Given the description of an element on the screen output the (x, y) to click on. 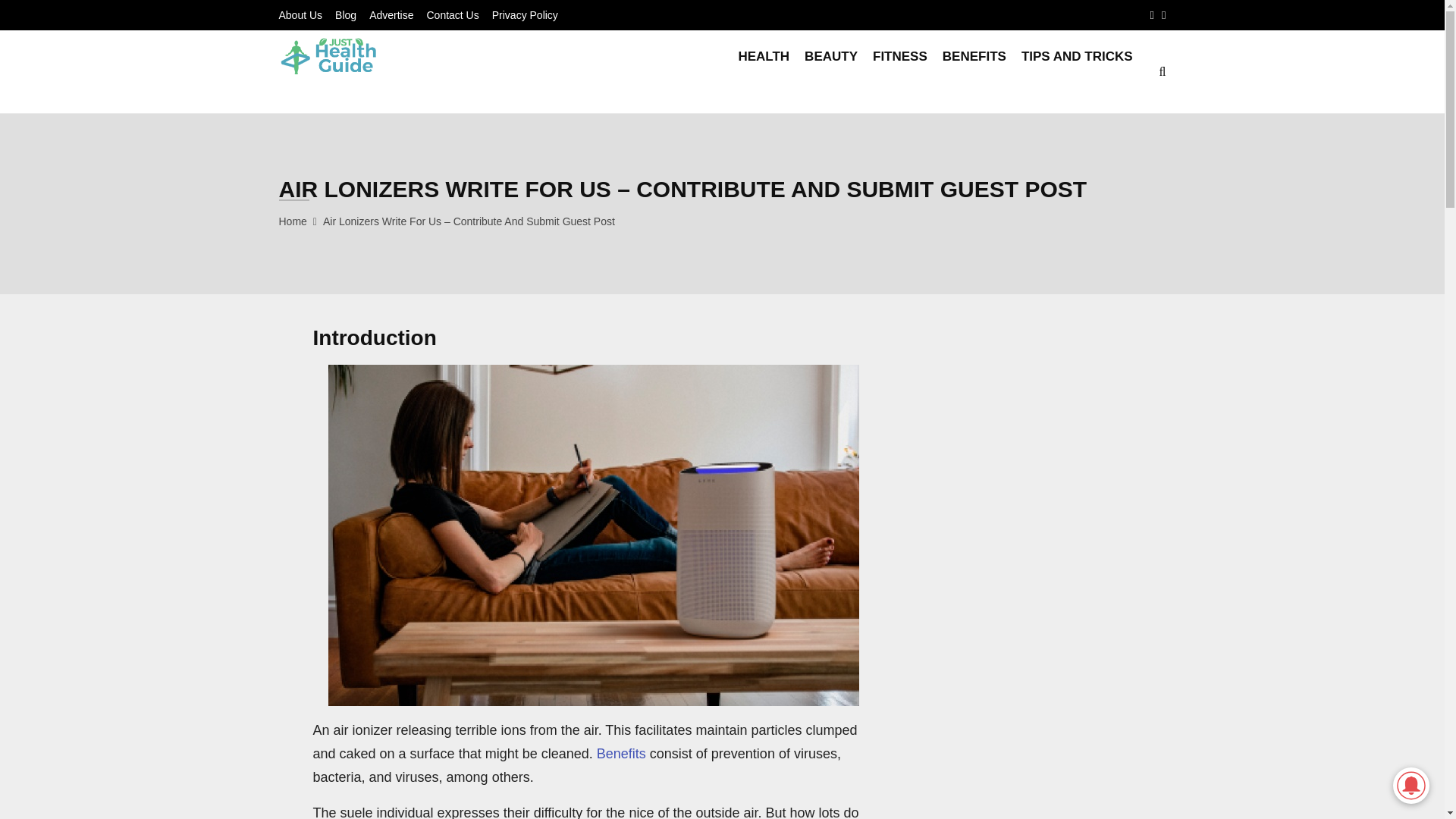
Privacy Policy (524, 15)
About Us (301, 15)
Home (293, 221)
Benefits (621, 753)
TIPS AND TRICKS (1077, 71)
Contact Us (452, 15)
Advertise (391, 15)
Blog (345, 15)
